Given the description of an element on the screen output the (x, y) to click on. 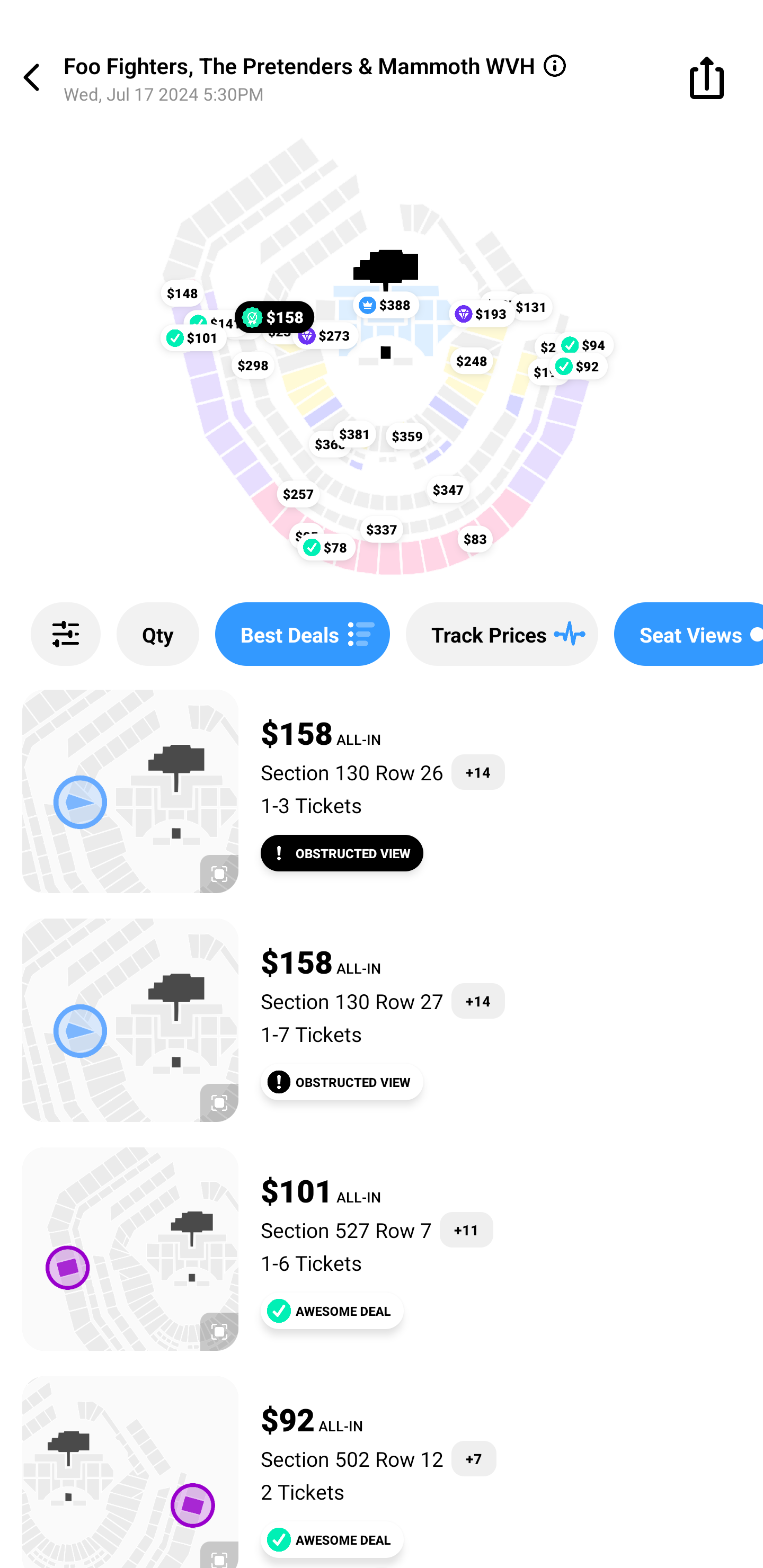
$388 (385, 304)
$193 (481, 313)
$158 (274, 316)
$273 (325, 335)
$248 (471, 361)
$298 (252, 365)
$381 (354, 433)
$359 (407, 435)
Qty (157, 634)
Best Deals (302, 634)
Track Prices (501, 634)
Seat Views (688, 634)
+14 (478, 772)
OBSTRUCTED VIEW (341, 852)
+14 (478, 1001)
OBSTRUCTED VIEW (341, 1081)
+11 (466, 1230)
AWESOME DEAL (331, 1310)
+7 (473, 1458)
AWESOME DEAL (331, 1539)
